Given the description of an element on the screen output the (x, y) to click on. 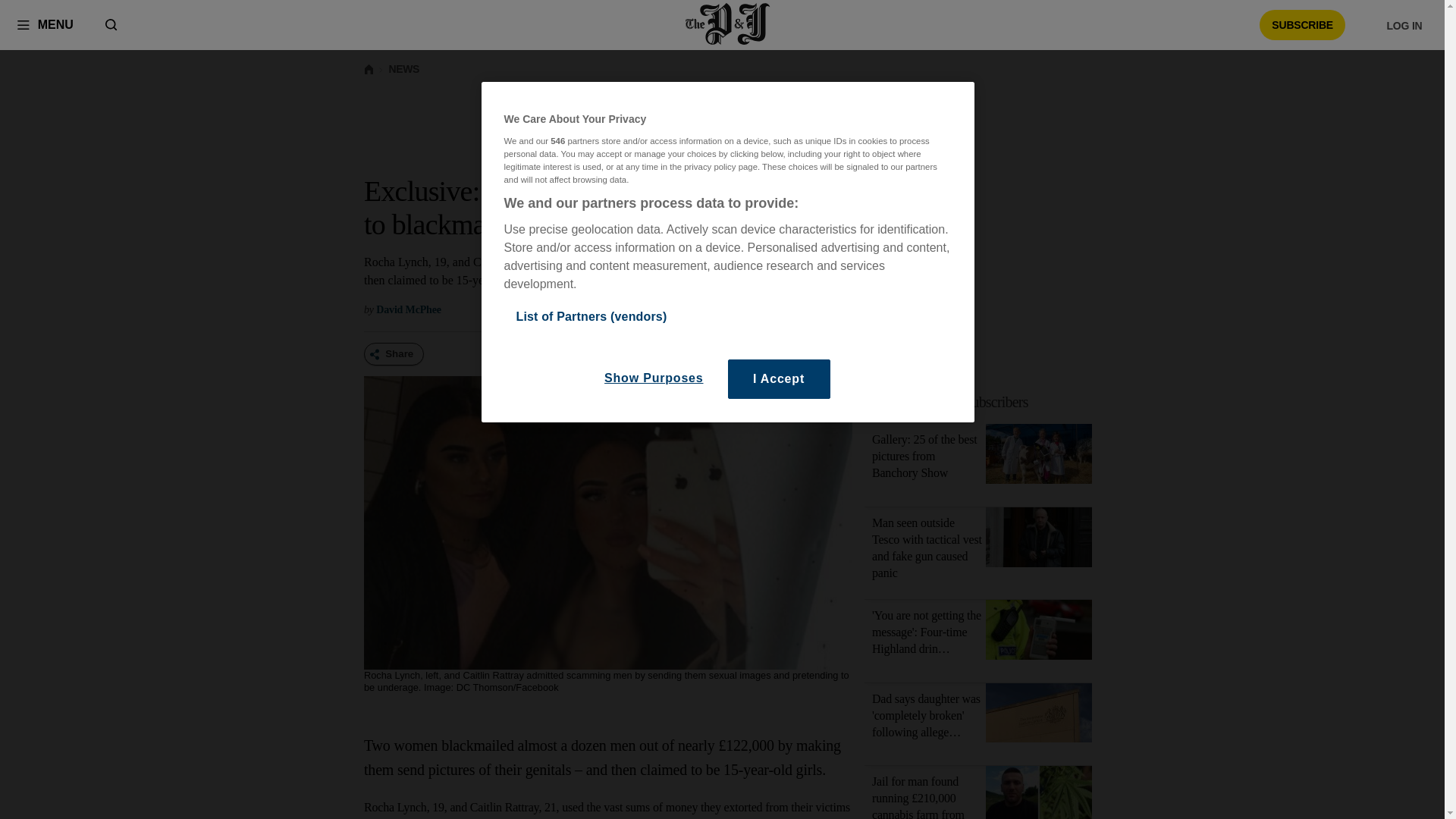
MENU (44, 24)
Gallery: 25 of the best pictures from Banchory Show (1038, 456)
Gallery: 25 of the best pictures from Banchory Show (924, 456)
Exclusive to our subscribers (986, 402)
Exclusive to our subscribers (950, 402)
Press and Journal (727, 24)
